Given the description of an element on the screen output the (x, y) to click on. 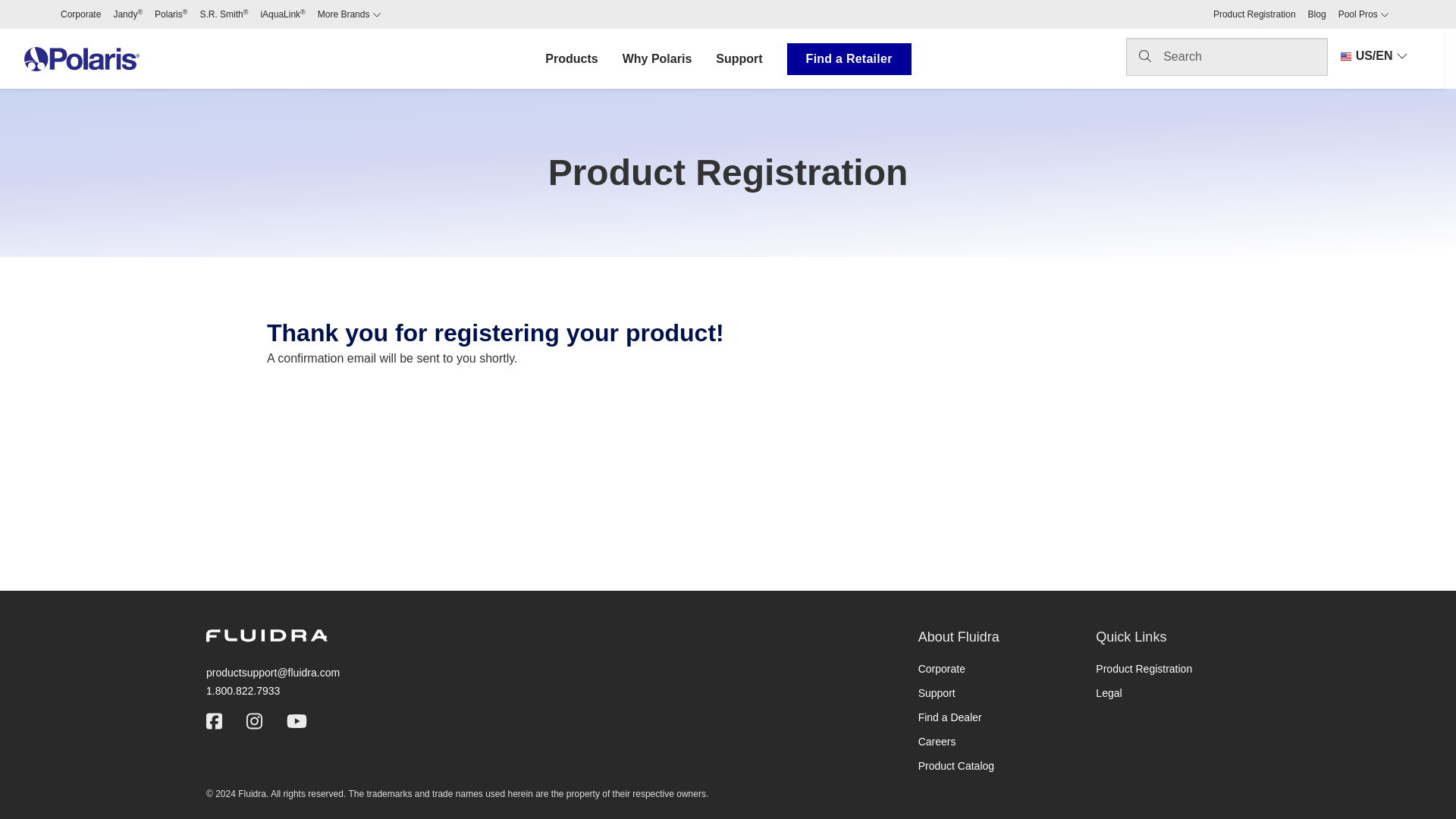
Product Registration (1254, 14)
Legal (1108, 693)
Careers (937, 741)
Fluidra (266, 635)
Corporate (80, 14)
Support (936, 693)
Blog (1316, 14)
More Brands (349, 14)
Pool Pros (1363, 14)
Corporate (941, 668)
